Given the description of an element on the screen output the (x, y) to click on. 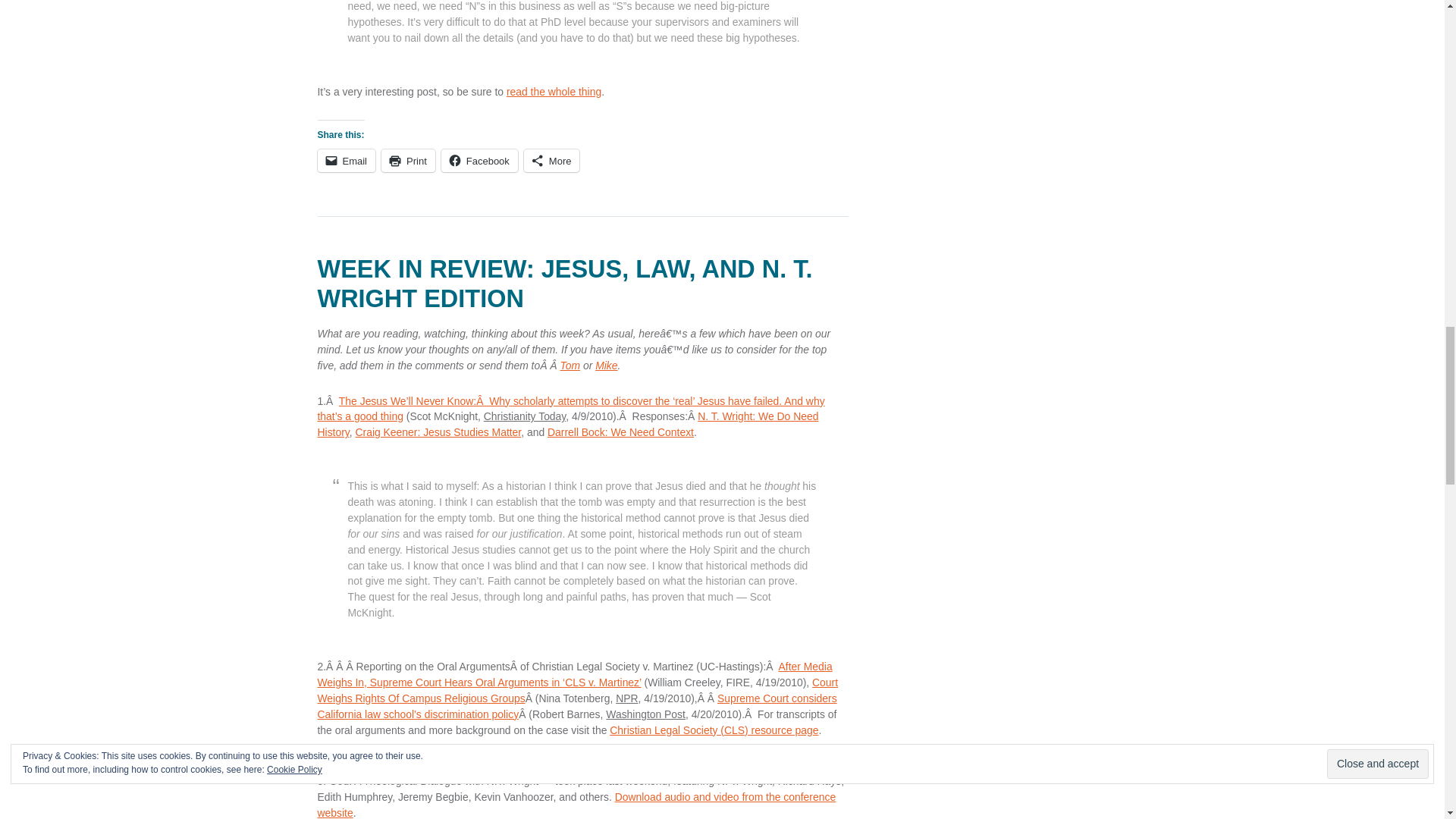
Click to share on Facebook (479, 160)
Click to email a link to a friend (346, 160)
Click to print (408, 160)
